Given the description of an element on the screen output the (x, y) to click on. 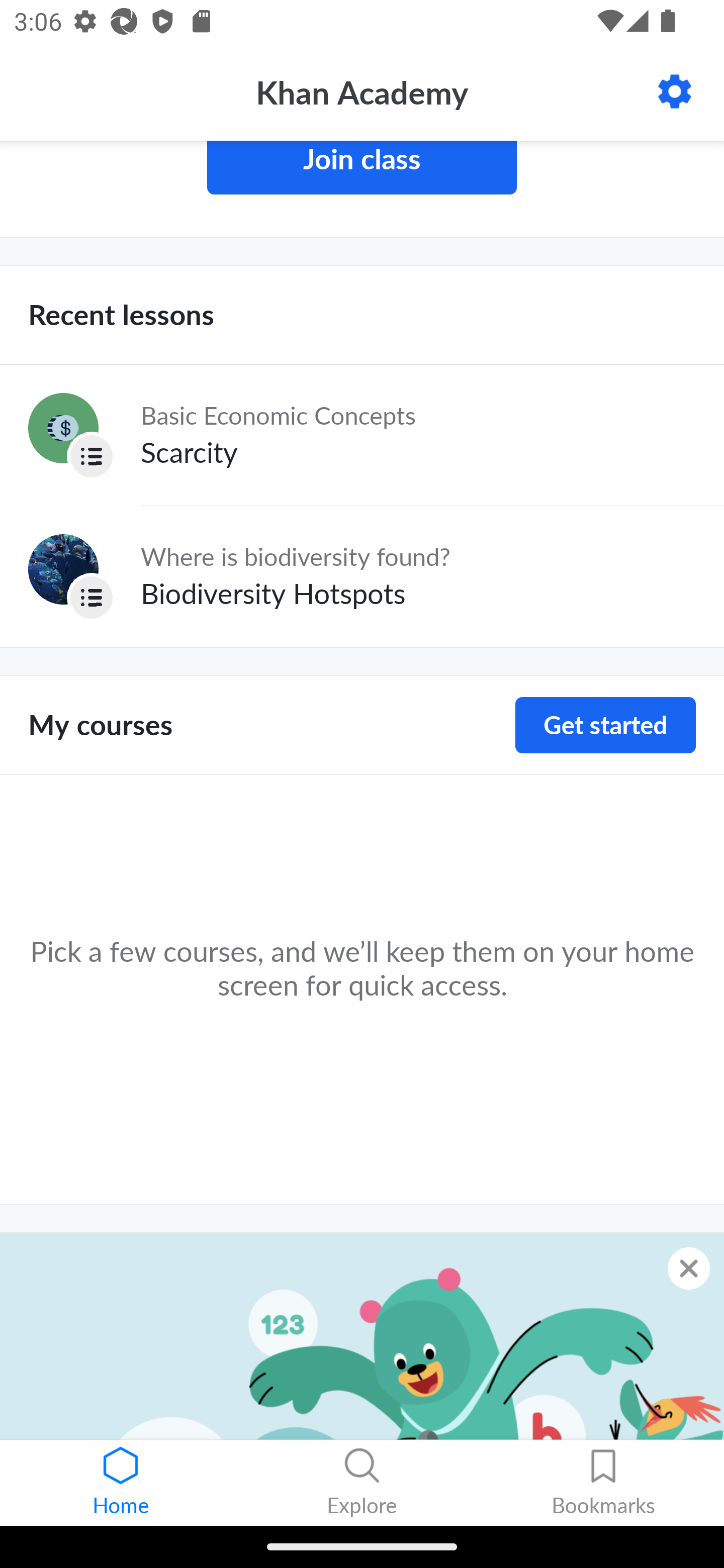
Settings (674, 91)
Join class (361, 167)
Lesson Basic Economic Concepts Scarcity (362, 435)
Get started (605, 724)
Dismiss (688, 1268)
Home (120, 1482)
Explore (361, 1482)
Bookmarks (603, 1482)
